Given the description of an element on the screen output the (x, y) to click on. 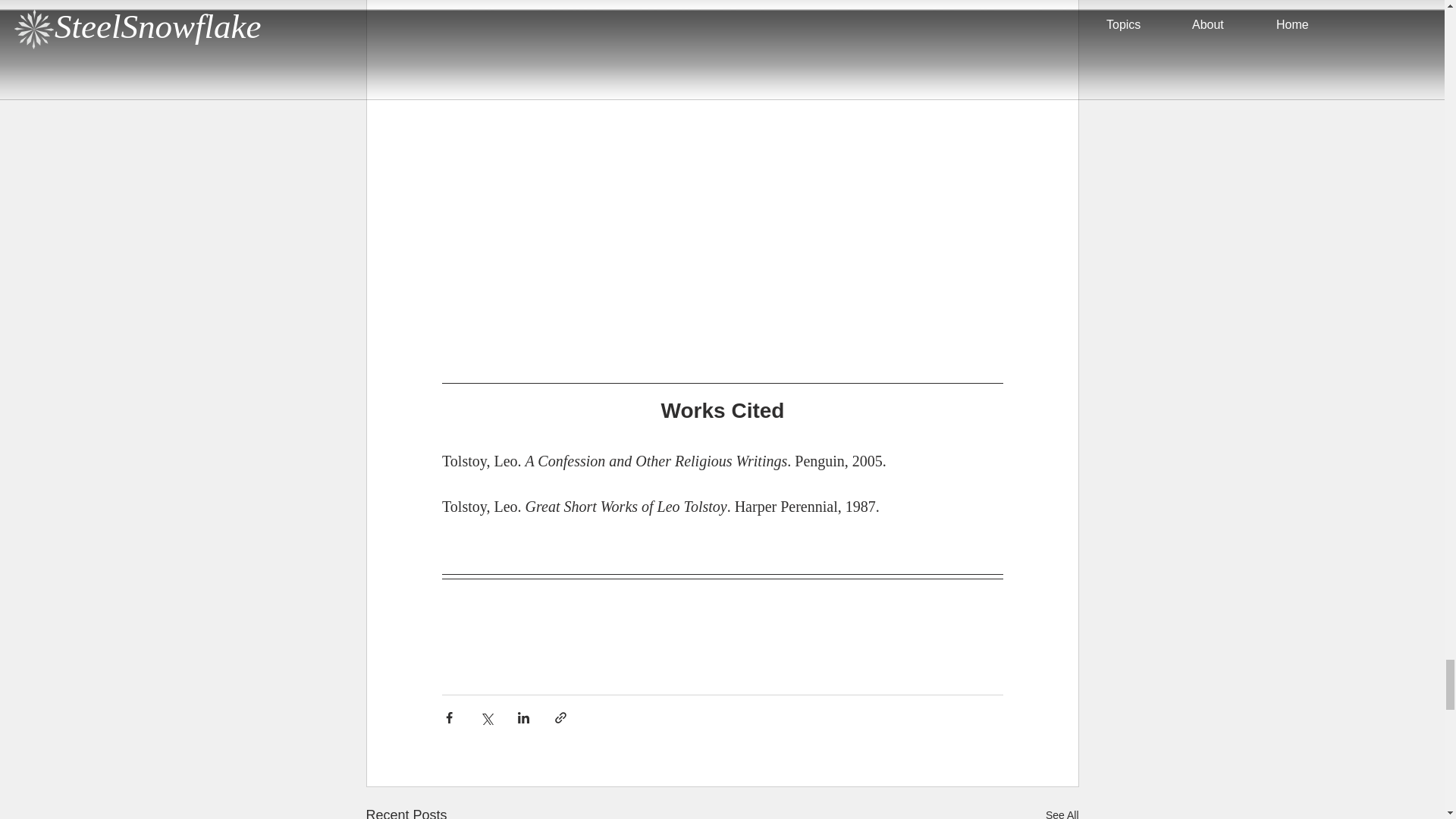
See All (1061, 811)
ricos-video (722, 87)
